Given the description of an element on the screen output the (x, y) to click on. 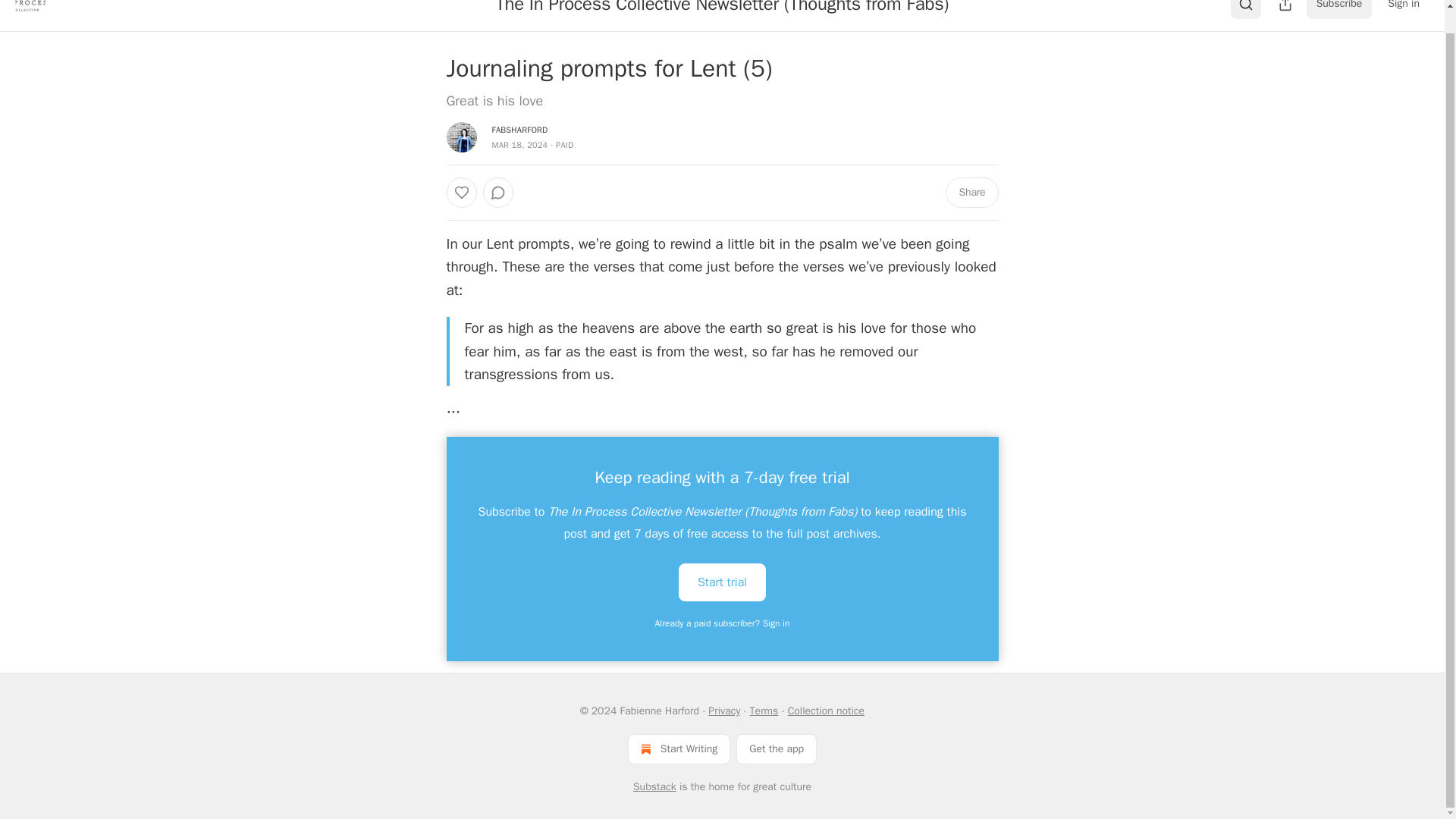
Subscribe (1339, 9)
Substack (655, 786)
Collection notice (825, 710)
Sign in (1403, 9)
Start trial (721, 581)
Terms (763, 710)
Start trial (721, 582)
FABSHARFORD (519, 129)
Privacy (723, 710)
Start Writing (678, 748)
